Given the description of an element on the screen output the (x, y) to click on. 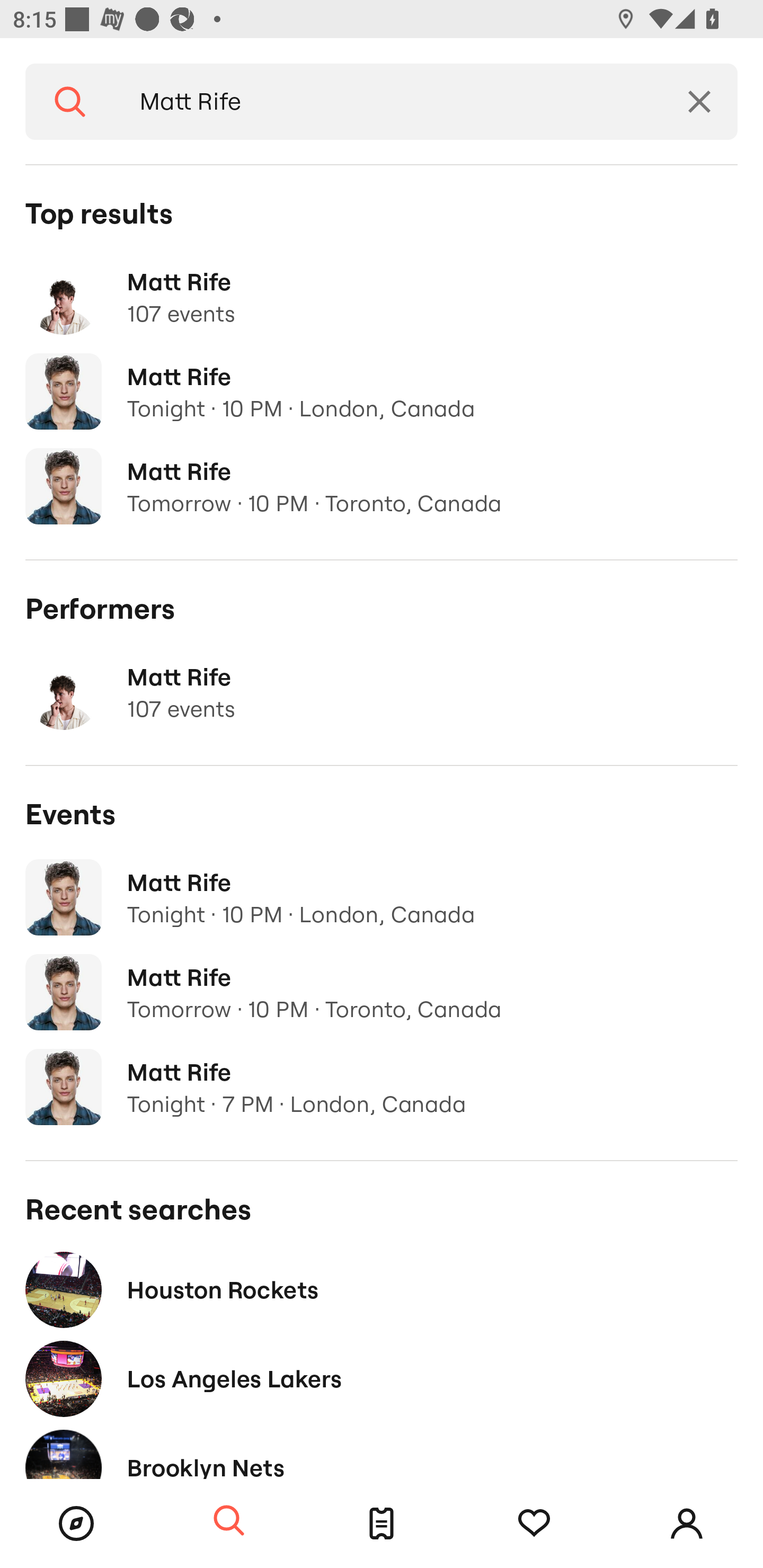
Search (69, 101)
Matt Rife (387, 101)
Clear (699, 101)
Matt Rife 107 events (381, 296)
Matt Rife Tonight · 10 PM · London, Canada (381, 391)
Matt Rife Tomorrow · 10 PM · Toronto, Canada (381, 486)
Matt Rife 107 events (381, 692)
Matt Rife Tonight · 10 PM · London, Canada (381, 897)
Matt Rife Tomorrow · 10 PM · Toronto, Canada (381, 992)
Matt Rife Tonight · 7 PM · London, Canada (381, 1087)
Houston Rockets (381, 1289)
Los Angeles Lakers (381, 1378)
Browse (76, 1523)
Search (228, 1521)
Tickets (381, 1523)
Tracking (533, 1523)
Account (686, 1523)
